Given the description of an element on the screen output the (x, y) to click on. 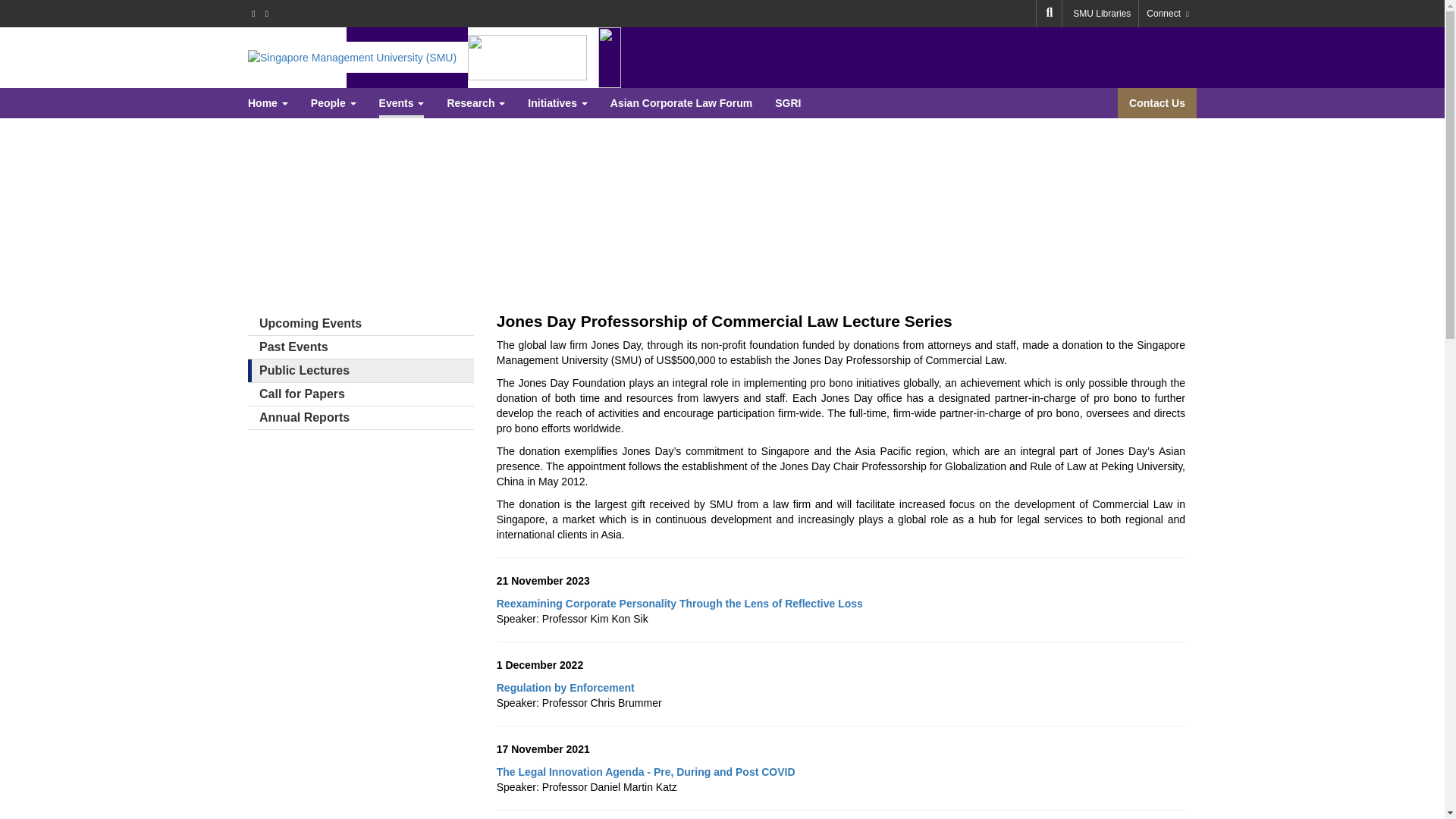
Connect (1168, 13)
Home (526, 57)
SMU Libraries (1102, 13)
